Given the description of an element on the screen output the (x, y) to click on. 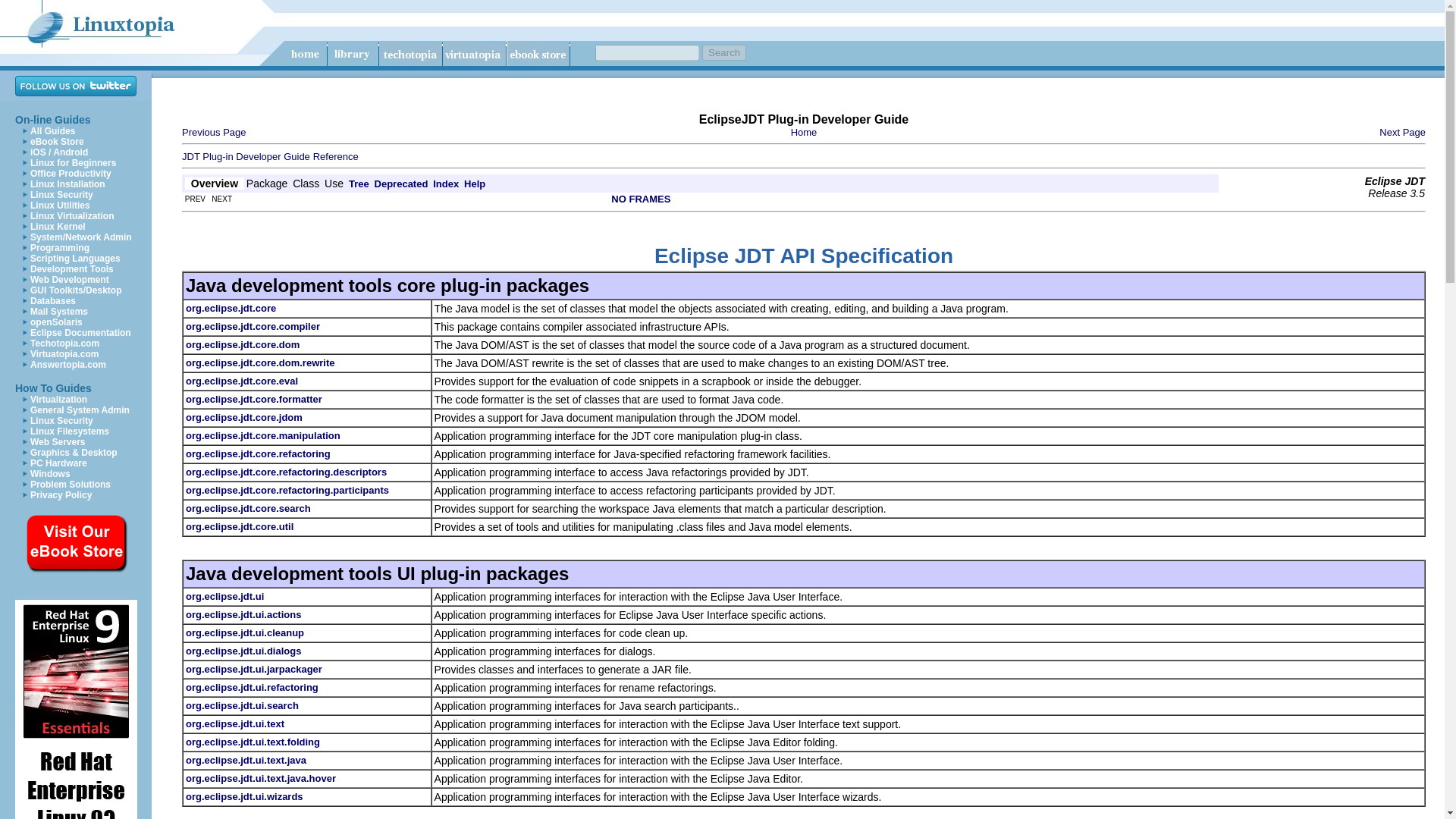
Databases (52, 300)
Windows (49, 473)
Mail Systems (58, 311)
Scripting Languages (75, 258)
Web Servers (57, 441)
Techotopia.com (64, 343)
Linux Security (61, 420)
Linux Installation (67, 184)
Virtualization (58, 398)
Home (803, 132)
eBook Store (57, 141)
Search (723, 52)
Programming (59, 247)
Office Productivity (71, 173)
Linux for Beginners (73, 163)
